Given the description of an element on the screen output the (x, y) to click on. 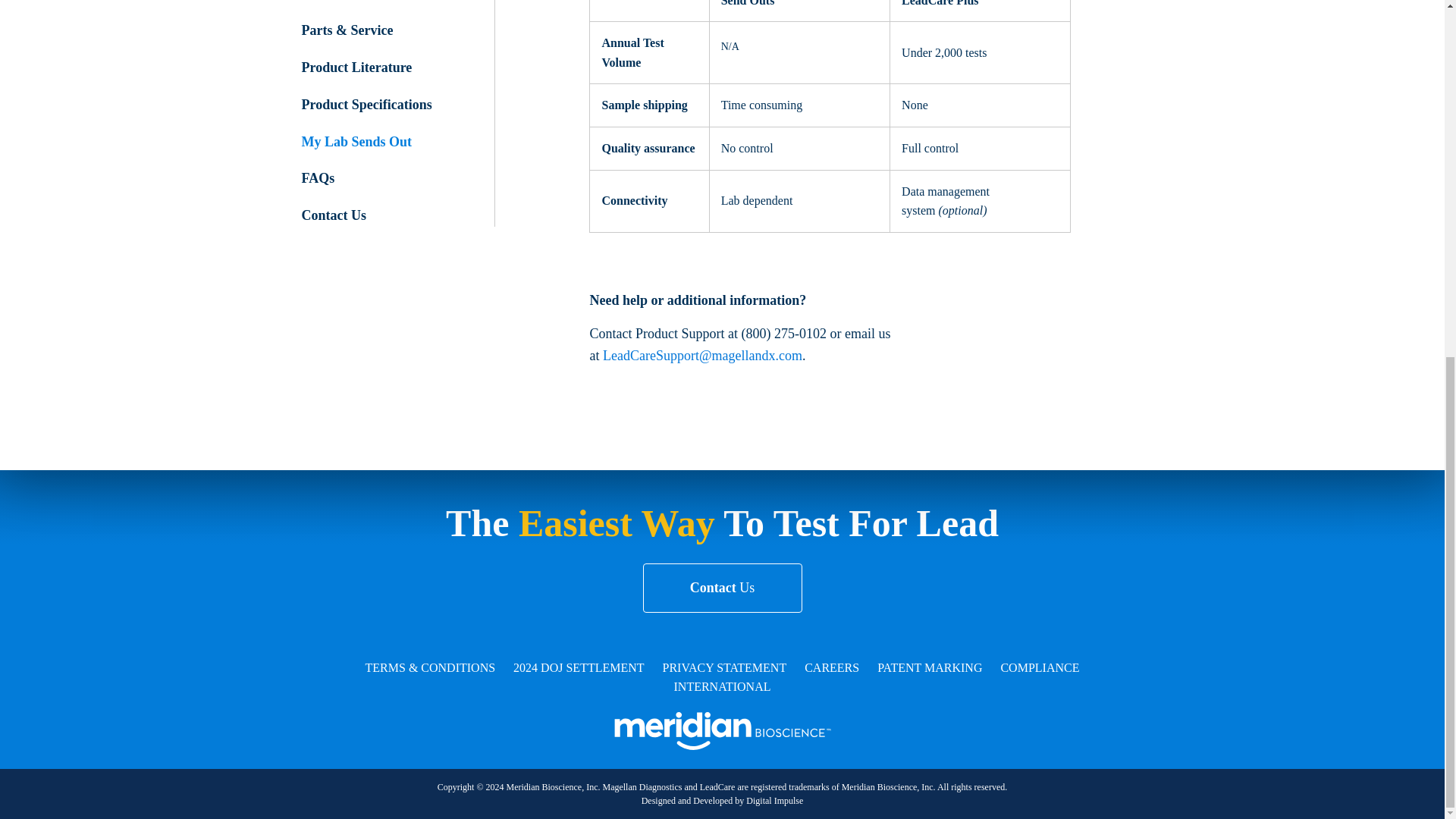
Validation (331, 0)
Designed (658, 172)
2024 DOJ SETTLEMENT (578, 38)
Contact Us (333, 215)
COMPLIANCE (1039, 38)
CAREERS (832, 38)
FAQs (317, 177)
Developed (712, 172)
PRIVACY STATEMENT (724, 38)
Digital Impulse (774, 172)
